Given the description of an element on the screen output the (x, y) to click on. 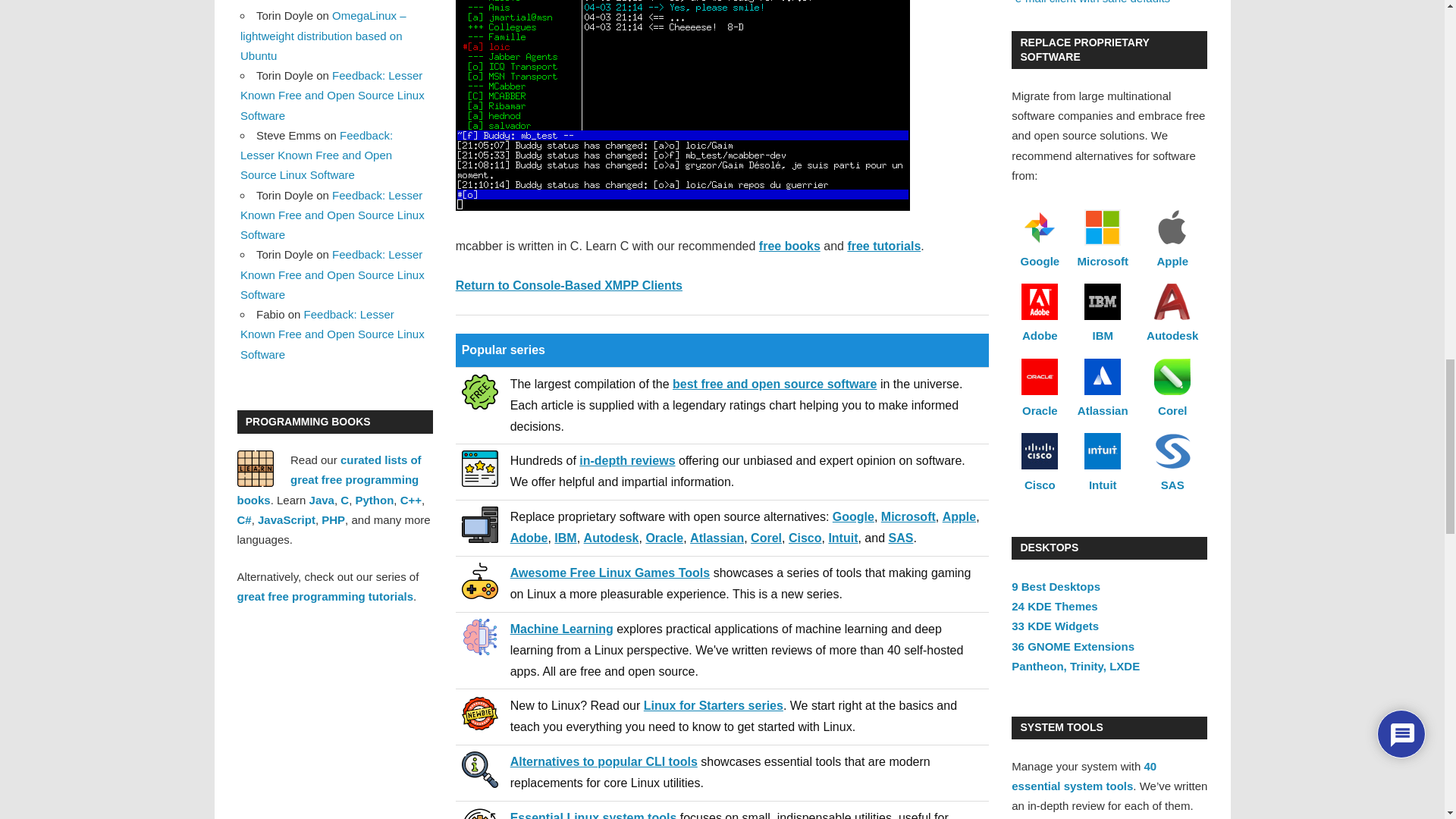
Apple (958, 516)
IBM (565, 537)
Intuit (842, 537)
Cisco (805, 537)
Autodesk (611, 537)
Microsoft (908, 516)
SAS (901, 537)
Adobe (529, 537)
best free and open source software (774, 383)
Atlassian (717, 537)
Corel (766, 537)
Oracle (663, 537)
free books (789, 245)
Machine Learning (561, 628)
Awesome Free Linux Games Tools (610, 572)
